Given the description of an element on the screen output the (x, y) to click on. 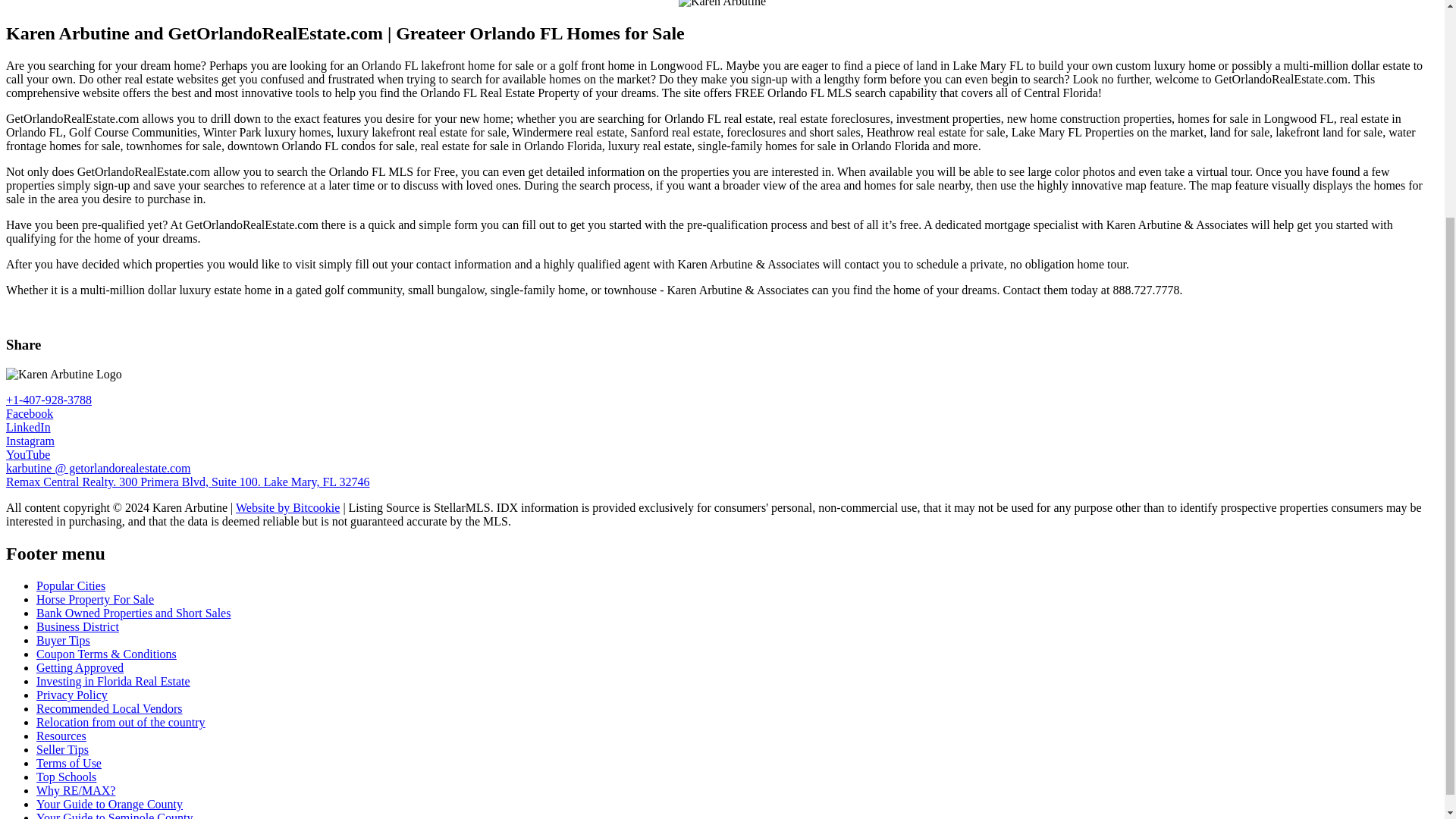
Business District (77, 626)
Instagram (30, 440)
Popular Cities (70, 585)
Your Guide to Orange County (109, 803)
LinkedIn (27, 427)
Buyer Tips (63, 640)
Horse Property For Sale (95, 599)
Bank Owned Properties and Short Sales (133, 612)
Privacy Policy (71, 694)
Relocation from out of the country (120, 721)
YouTube (27, 454)
Terms of Use (68, 762)
Recommended Local Vendors (109, 707)
Resources (60, 735)
